Given the description of an element on the screen output the (x, y) to click on. 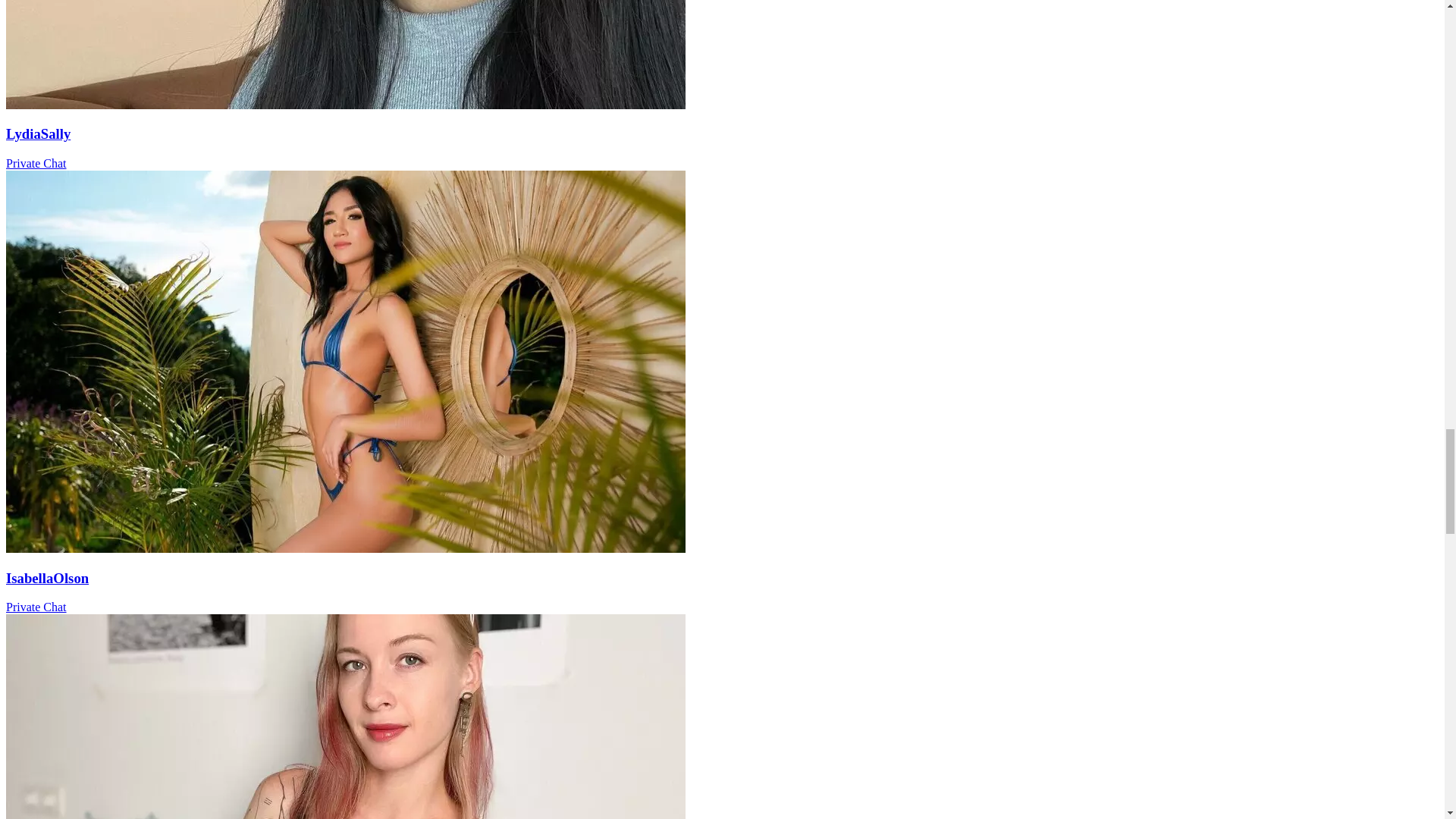
View more of LydiaSally (345, 104)
